Given the description of an element on the screen output the (x, y) to click on. 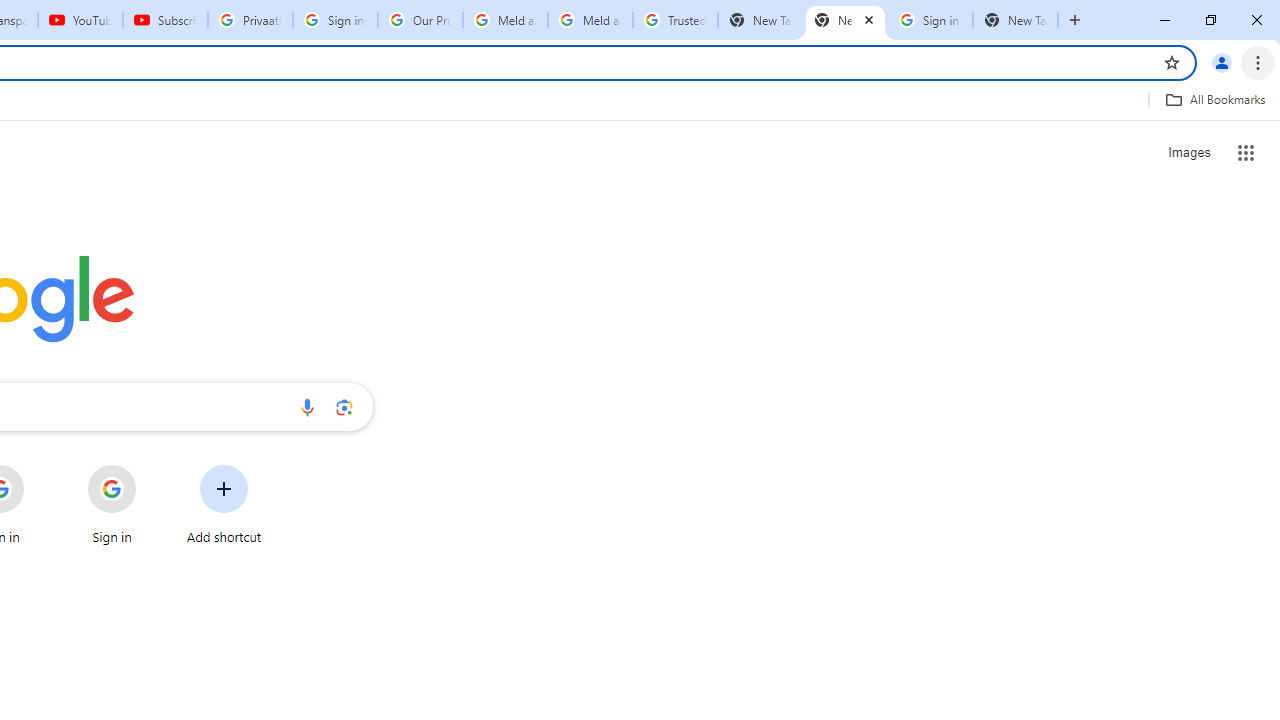
Bookmark this tab (1171, 62)
Subscriptions - YouTube (165, 20)
New Tab (1015, 20)
New Tab (845, 20)
Search by image (344, 407)
Google apps (1245, 152)
Search by voice (307, 407)
All Bookmarks (1215, 99)
Chrome (1260, 62)
More actions for Sign in shortcut (152, 466)
Sign in - Google Accounts (930, 20)
Trusted Information and Content - Google Safety Center (675, 20)
Add shortcut (223, 504)
